Given the description of an element on the screen output the (x, y) to click on. 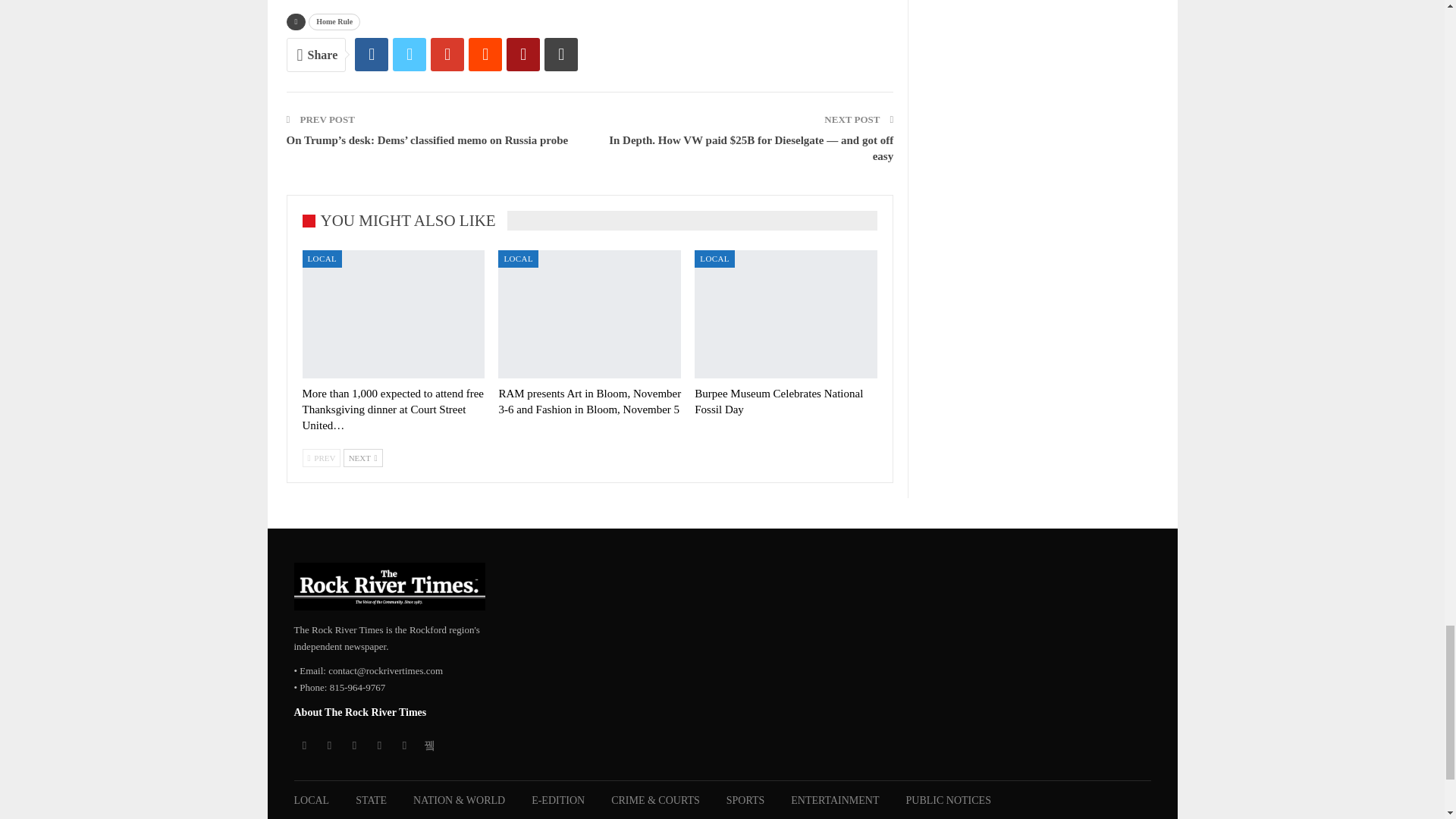
Next (362, 457)
Home Rule (333, 21)
Burpee Museum Celebrates National Fossil Day (785, 314)
Burpee Museum Celebrates National Fossil Day (778, 401)
Previous (320, 457)
